Given the description of an element on the screen output the (x, y) to click on. 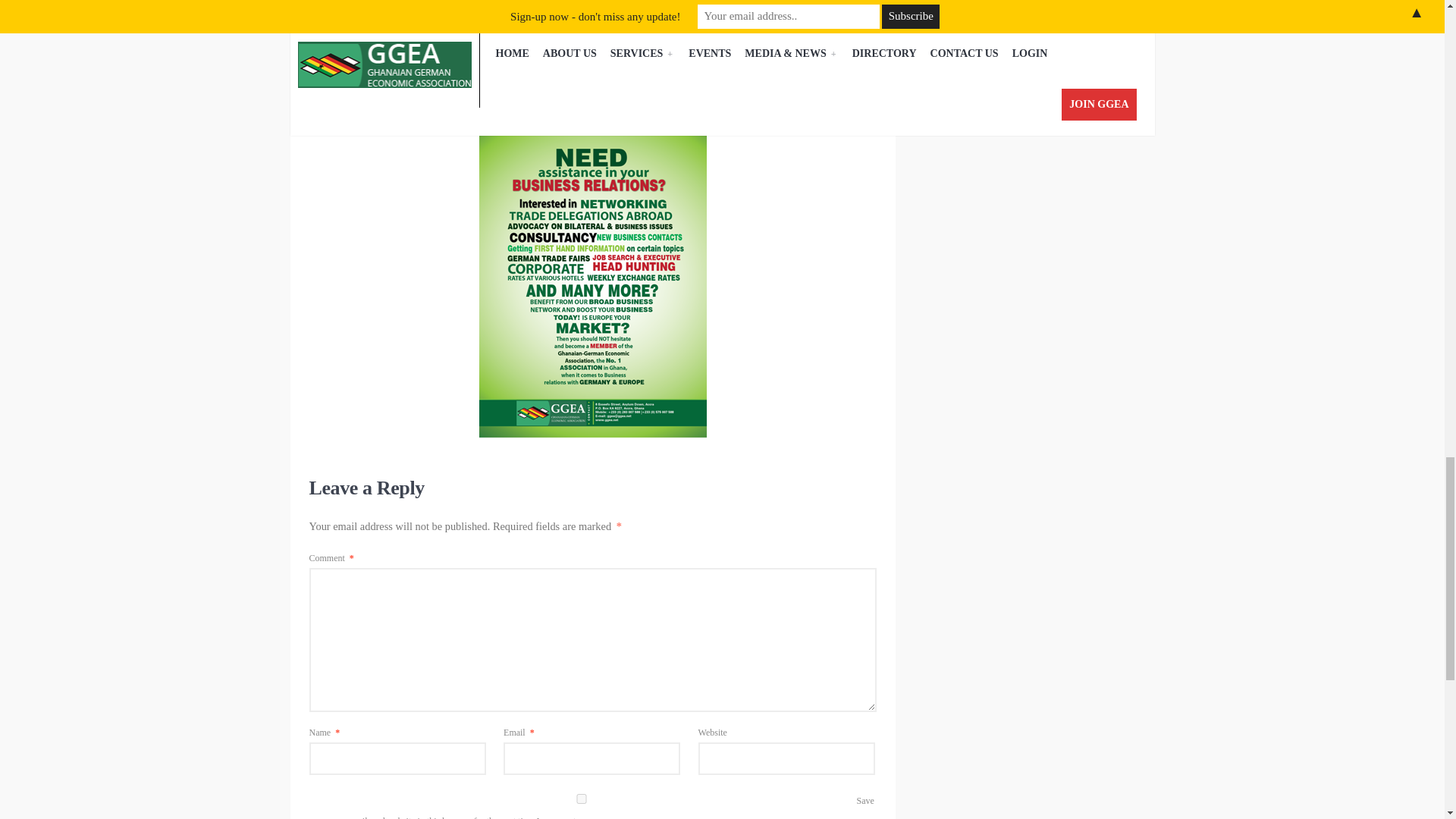
Dr Bawumia launches E-travel card for govt officials (766, 13)
yes (580, 798)
Dr Bawumia launches E-travel card for govt officials (766, 13)
